Given the description of an element on the screen output the (x, y) to click on. 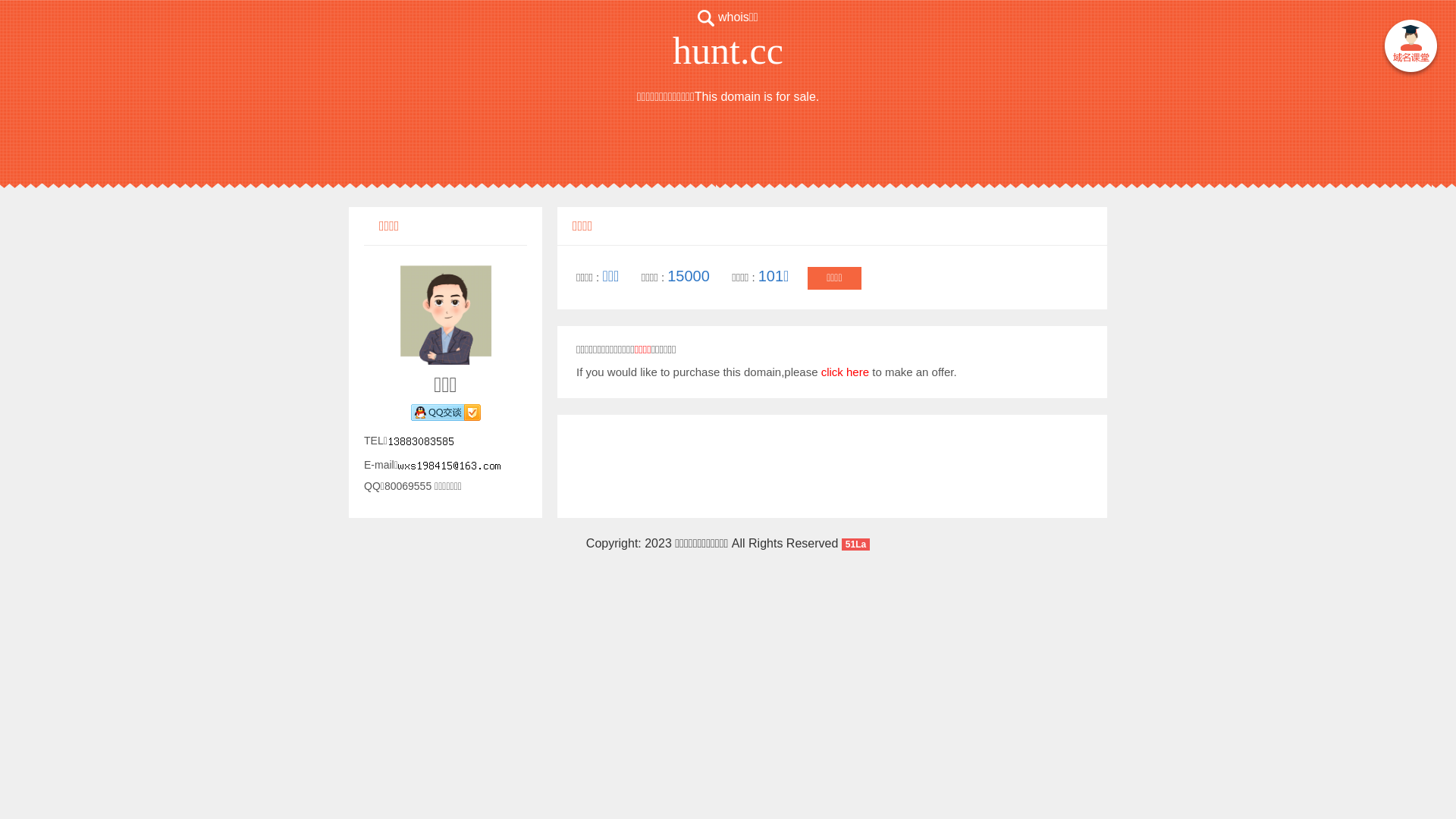
51La Element type: text (855, 542)
  Element type: text (1410, 48)
click here Element type: text (845, 371)
